Given the description of an element on the screen output the (x, y) to click on. 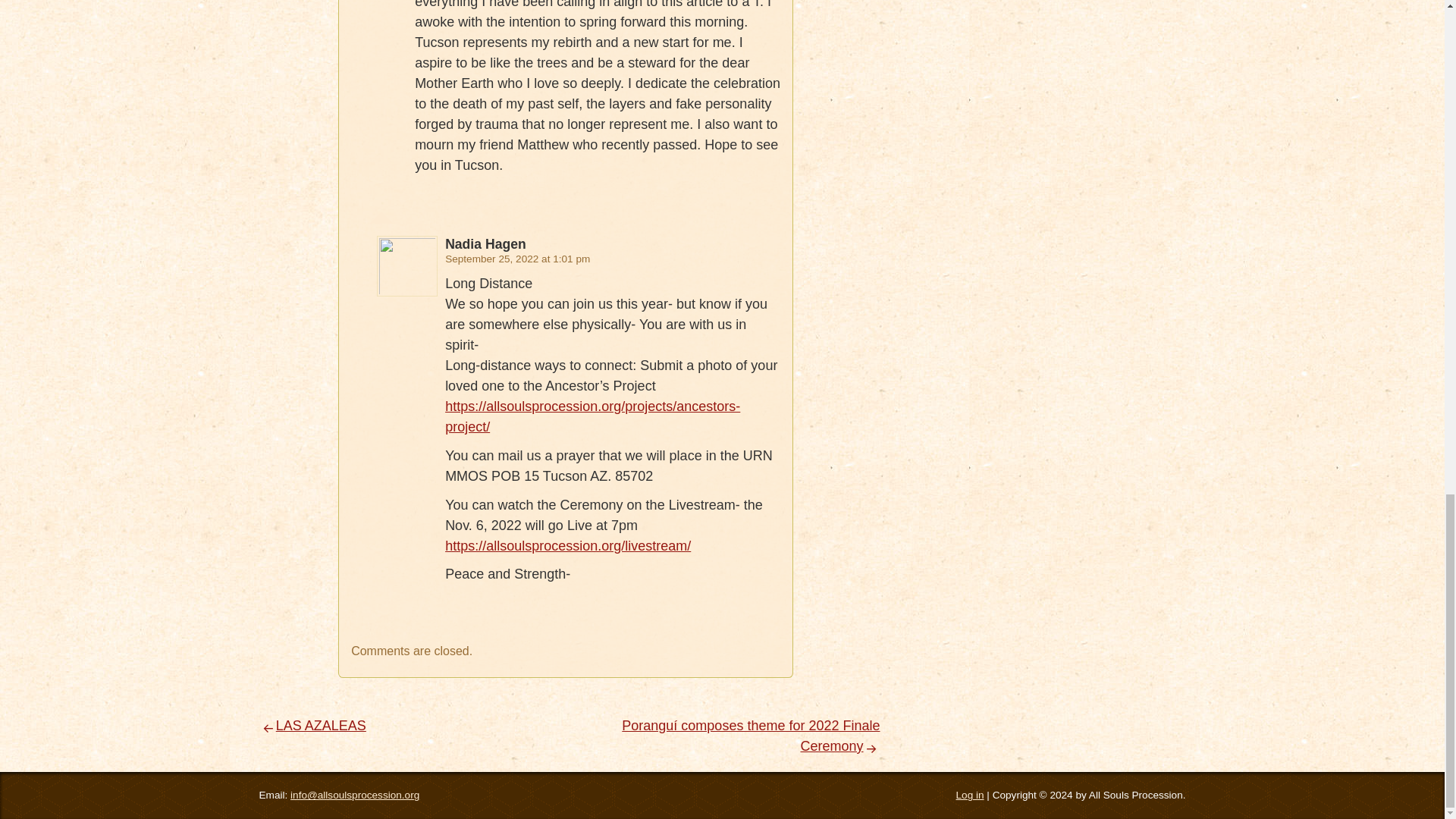
September 25, 2022 at 1:01 pm (517, 258)
LAS AZALEAS (312, 725)
Previous (312, 725)
Next (750, 735)
